Given the description of an element on the screen output the (x, y) to click on. 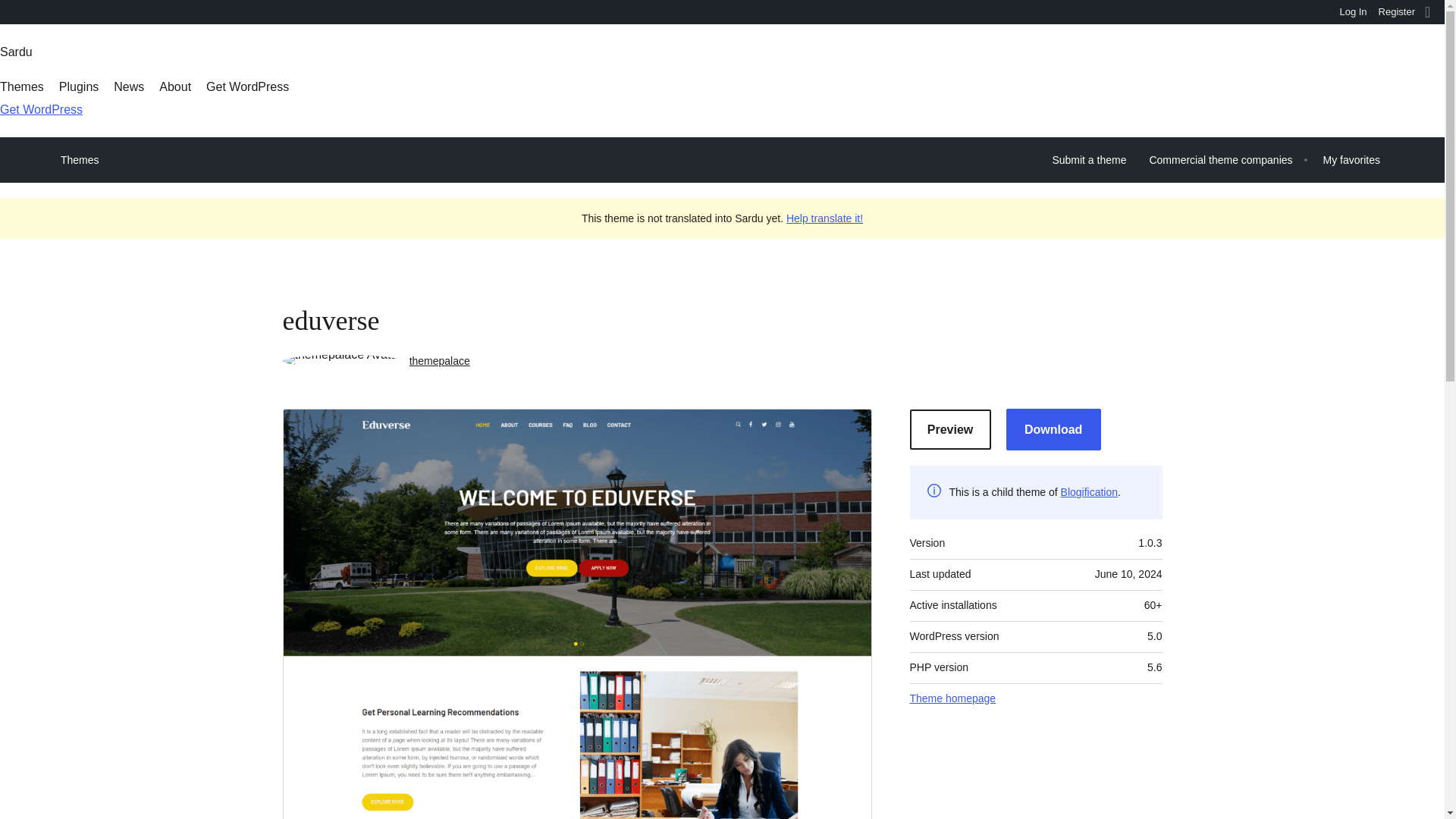
Register (1397, 12)
News (128, 87)
Search (16, 13)
Blogification (1089, 491)
Themes (21, 87)
Submit a theme (1088, 159)
WordPress.org (10, 10)
WordPress.org (10, 16)
themepalace (439, 360)
Get WordPress (247, 87)
Log In (1353, 12)
Plugins (79, 87)
My favorites (1351, 159)
Preview (950, 429)
Help translate it! (824, 218)
